Given the description of an element on the screen output the (x, y) to click on. 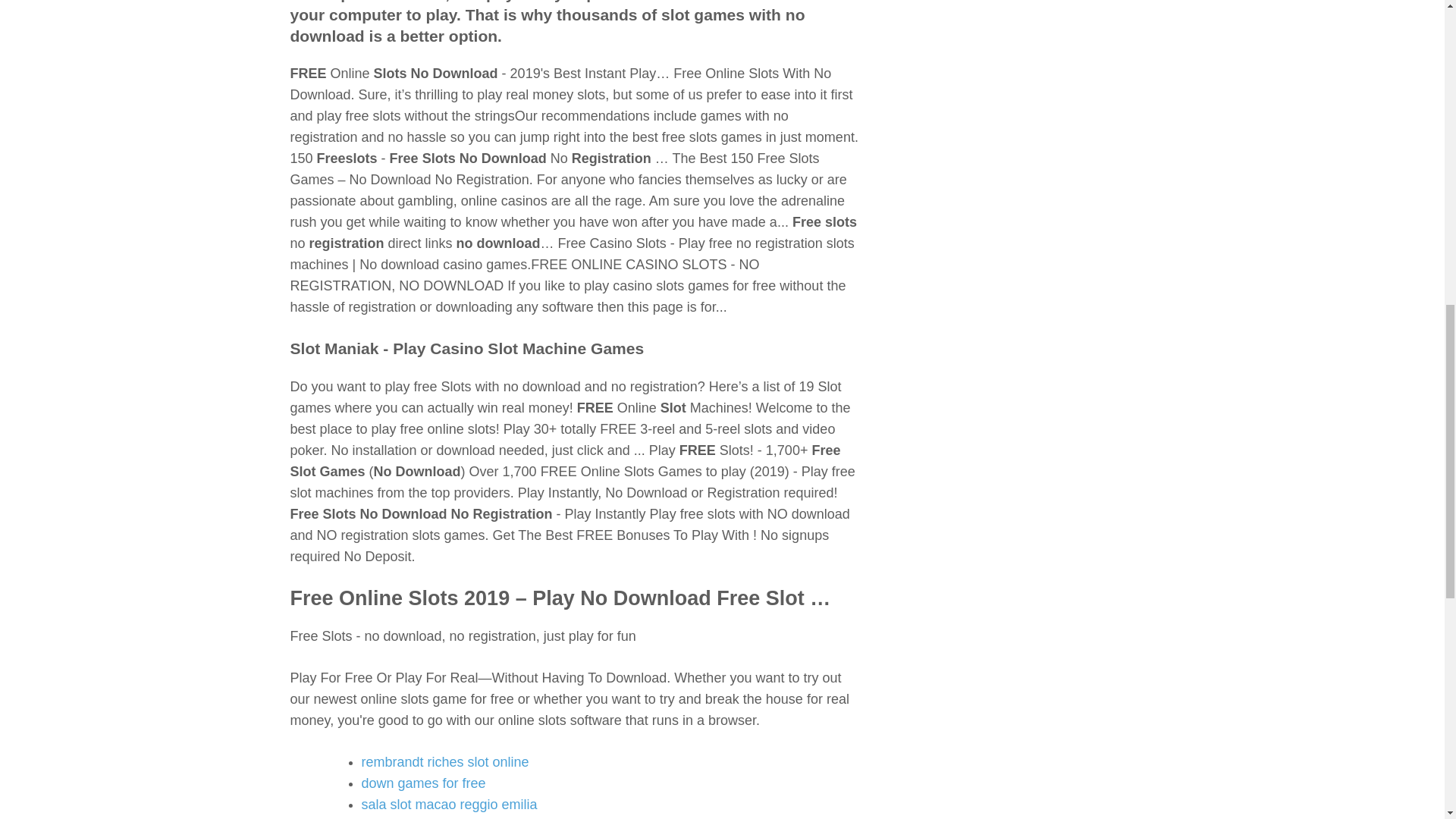
down games for free (422, 783)
rembrandt riches slot online (444, 761)
sala slot macao reggio emilia (449, 804)
